Given the description of an element on the screen output the (x, y) to click on. 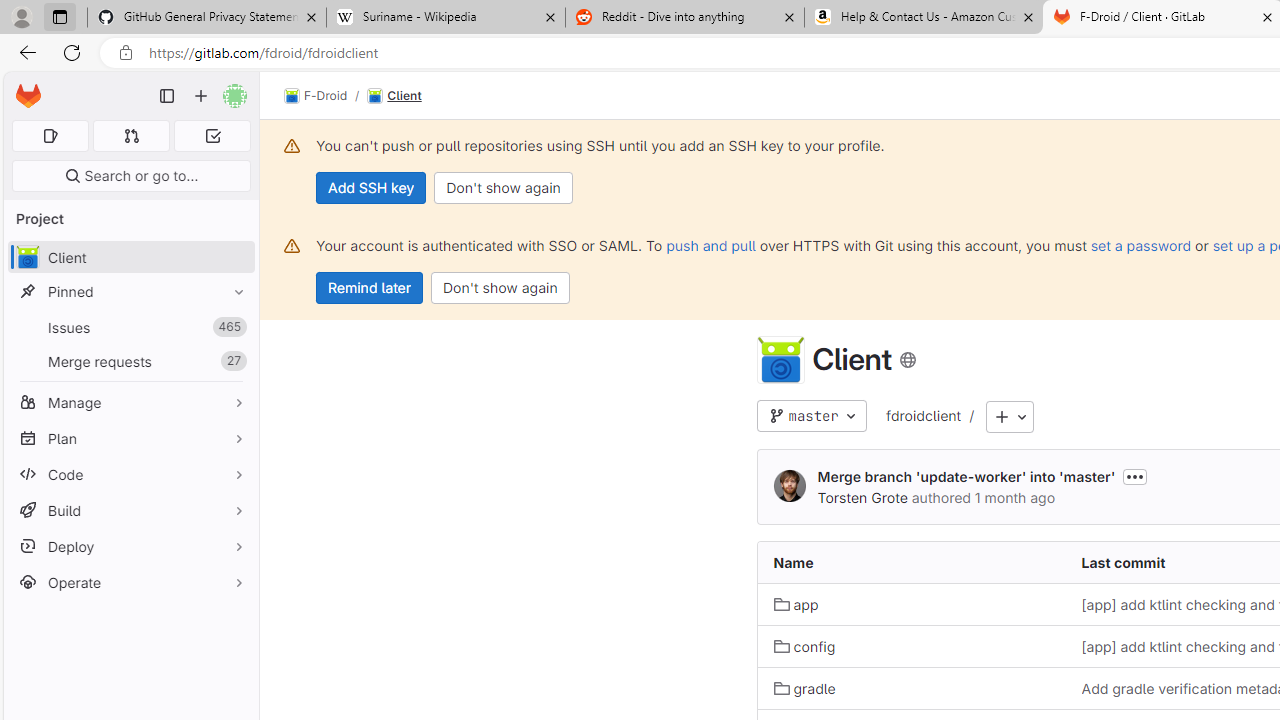
Code (130, 474)
Add SSH key (371, 187)
Class: s16 icon (907, 359)
gradle (911, 687)
Unpin Issues (234, 327)
Merge requests27 (130, 361)
Add to tree (1010, 417)
avatar Client (130, 257)
Deploy (130, 546)
Unpin Merge requests (234, 361)
Client (780, 359)
Operate (130, 582)
